Given the description of an element on the screen output the (x, y) to click on. 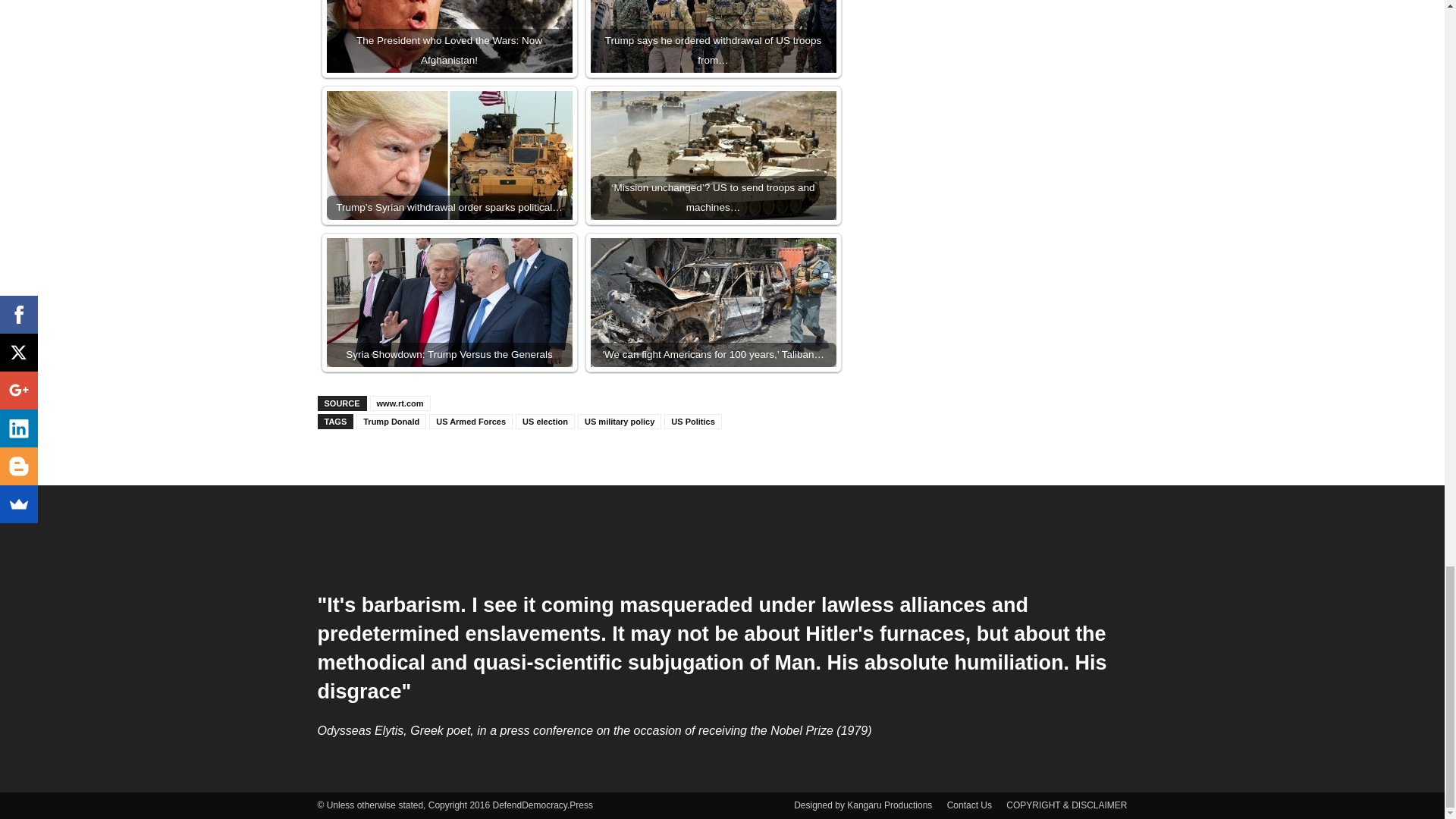
Syria Showdown: Trump Versus the Generals (449, 302)
The President who Loved the Wars: Now Afghanistan! (449, 36)
